Given the description of an element on the screen output the (x, y) to click on. 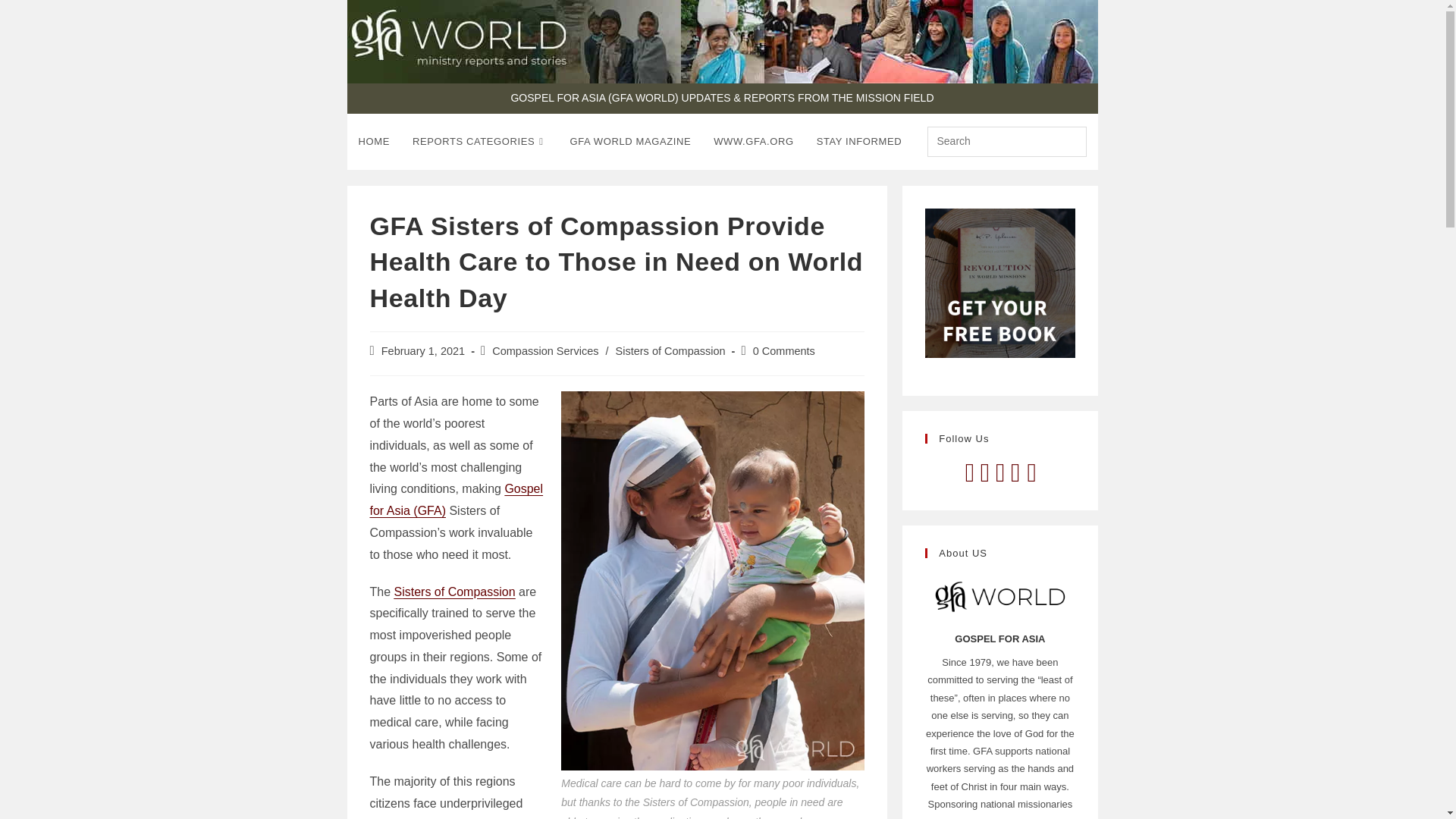
HOME (374, 141)
WWW.GFA.ORG (753, 141)
Gospel for Asia: GFA World Magazine (631, 141)
Compassion Services (545, 350)
STAY INFORMED (859, 141)
GFA WORLD MAGAZINE (631, 141)
REPORTS CATEGORIES (480, 141)
